Given the description of an element on the screen output the (x, y) to click on. 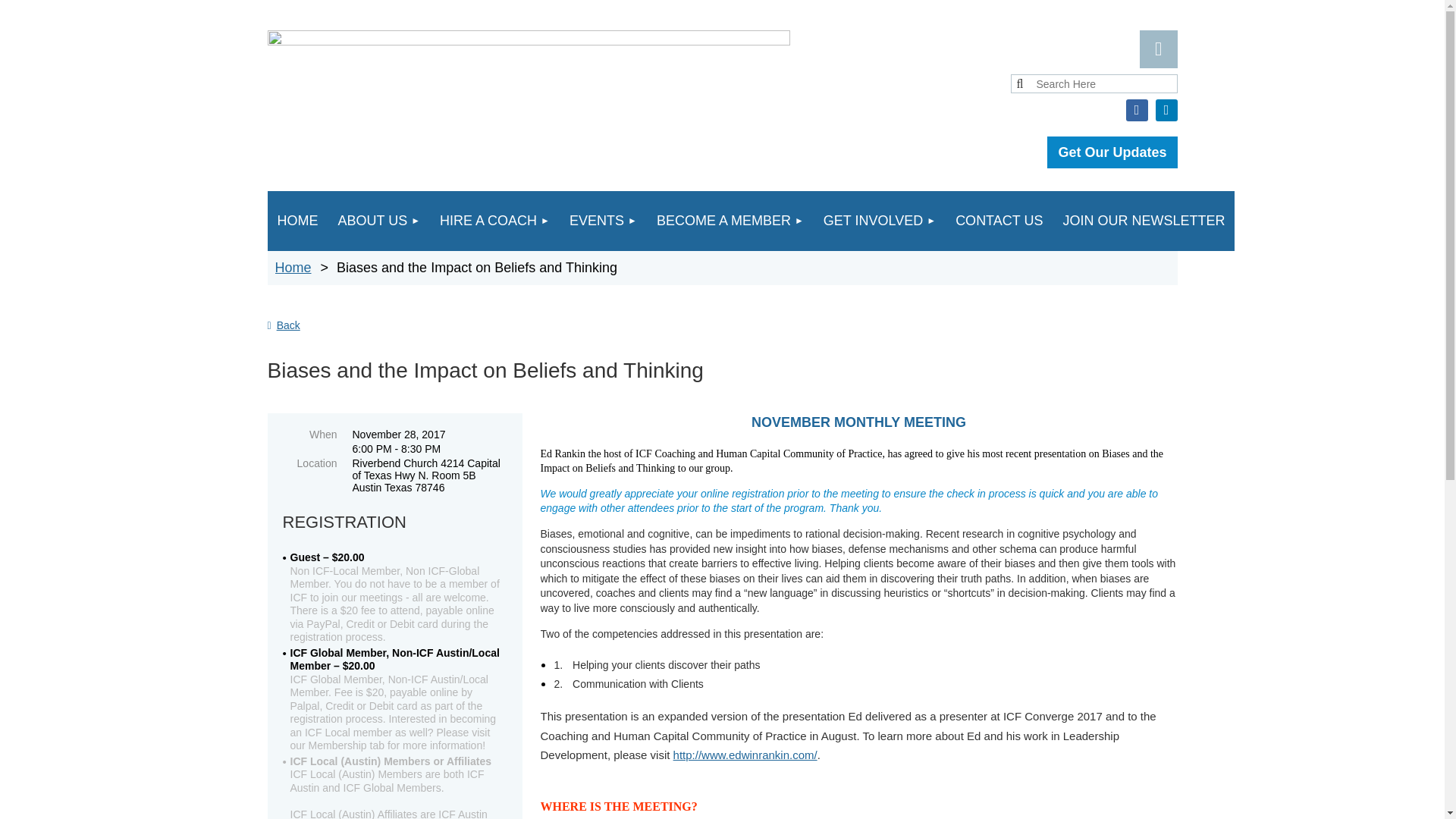
HOME (296, 220)
EVENTS (602, 220)
Log in (1157, 48)
HIRE A COACH (494, 220)
Get Our Updates (1111, 152)
ABOUT US (378, 220)
